Given the description of an element on the screen output the (x, y) to click on. 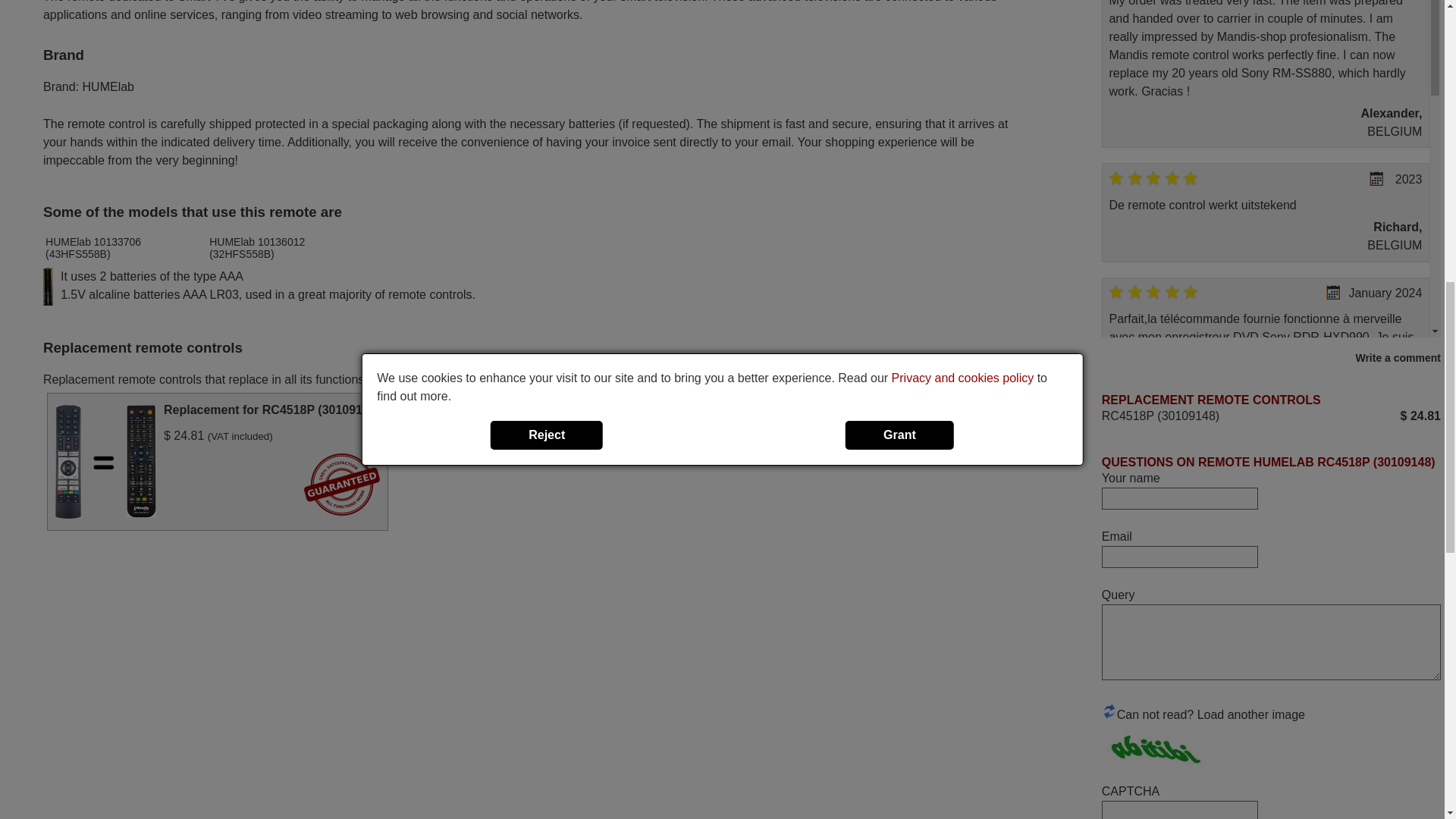
Write a comment (1271, 357)
Replacement remote controls (143, 347)
HUMElab (107, 86)
Remote controls HUMElab (107, 86)
